Given the description of an element on the screen output the (x, y) to click on. 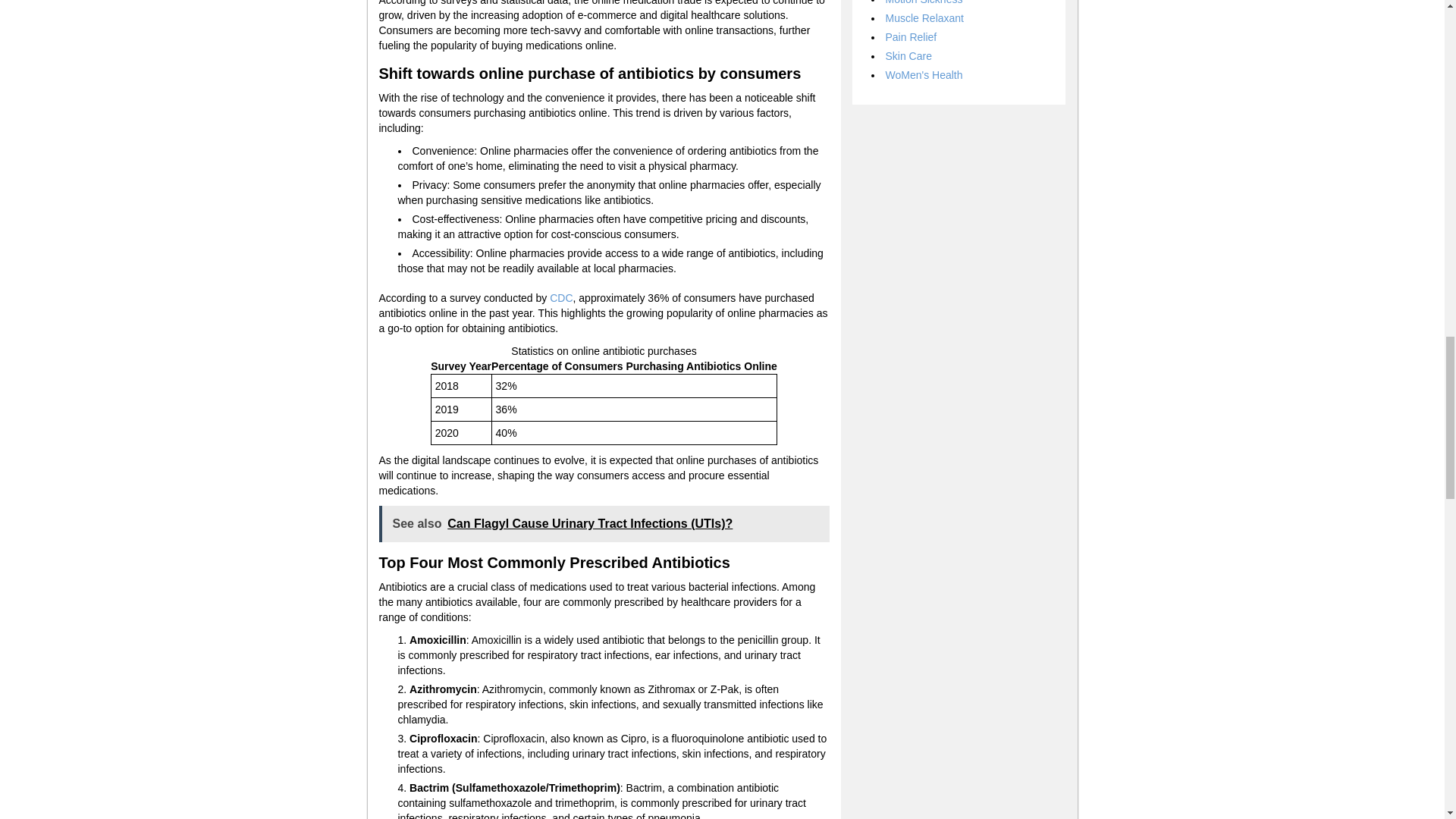
CDC (561, 297)
